Given the description of an element on the screen output the (x, y) to click on. 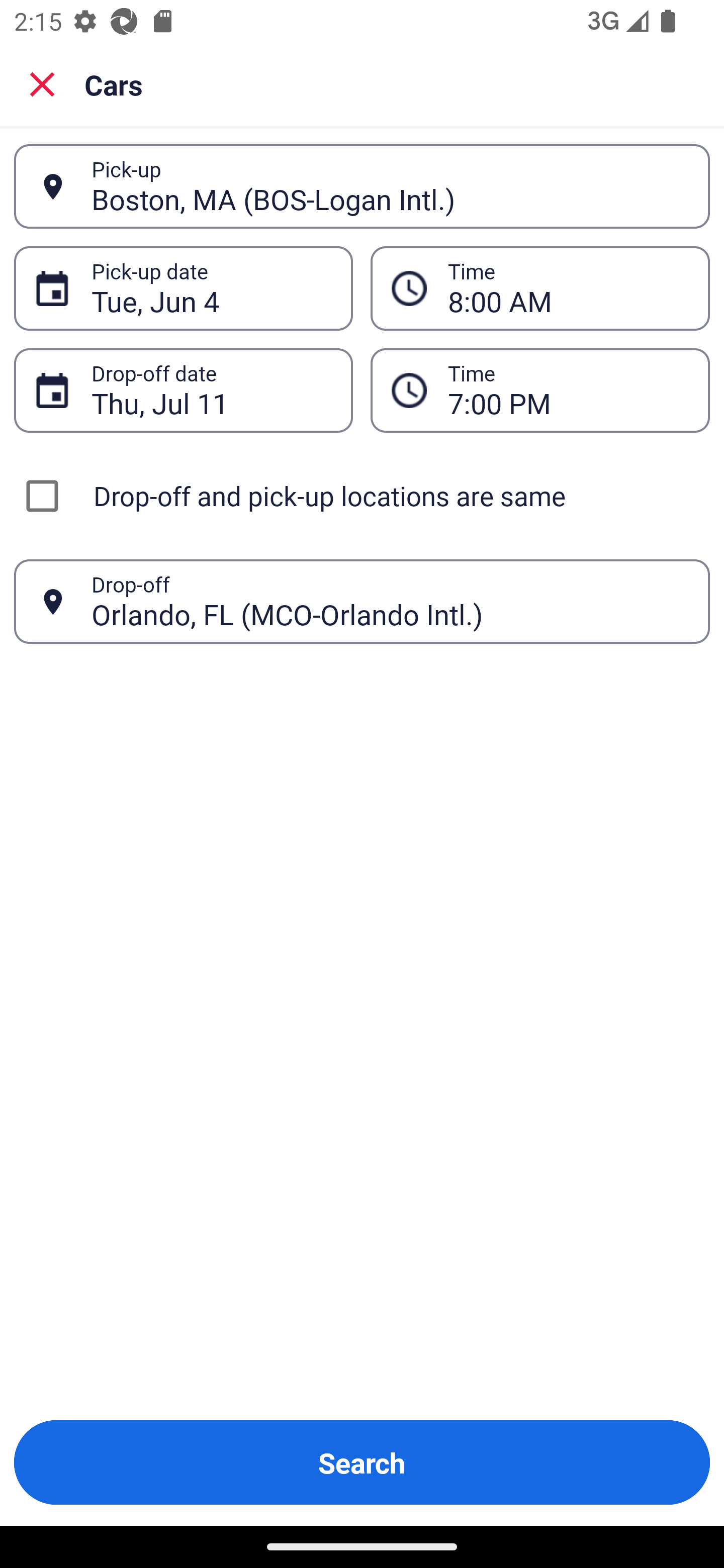
Close search screen (41, 83)
Boston, MA (BOS-Logan Intl.) Pick-up (361, 186)
Boston, MA (BOS-Logan Intl.) (389, 186)
Tue, Jun 4 Pick-up date (183, 288)
8:00 AM (540, 288)
Tue, Jun 4 (211, 288)
8:00 AM (568, 288)
Thu, Jul 11 Drop-off date (183, 390)
7:00 PM (540, 390)
Thu, Jul 11 (211, 390)
7:00 PM (568, 390)
Drop-off and pick-up locations are same (361, 495)
Orlando, FL (MCO-Orlando Intl.) Drop-off (361, 601)
Orlando, FL (MCO-Orlando Intl.) (389, 601)
Search Button Search (361, 1462)
